Given the description of an element on the screen output the (x, y) to click on. 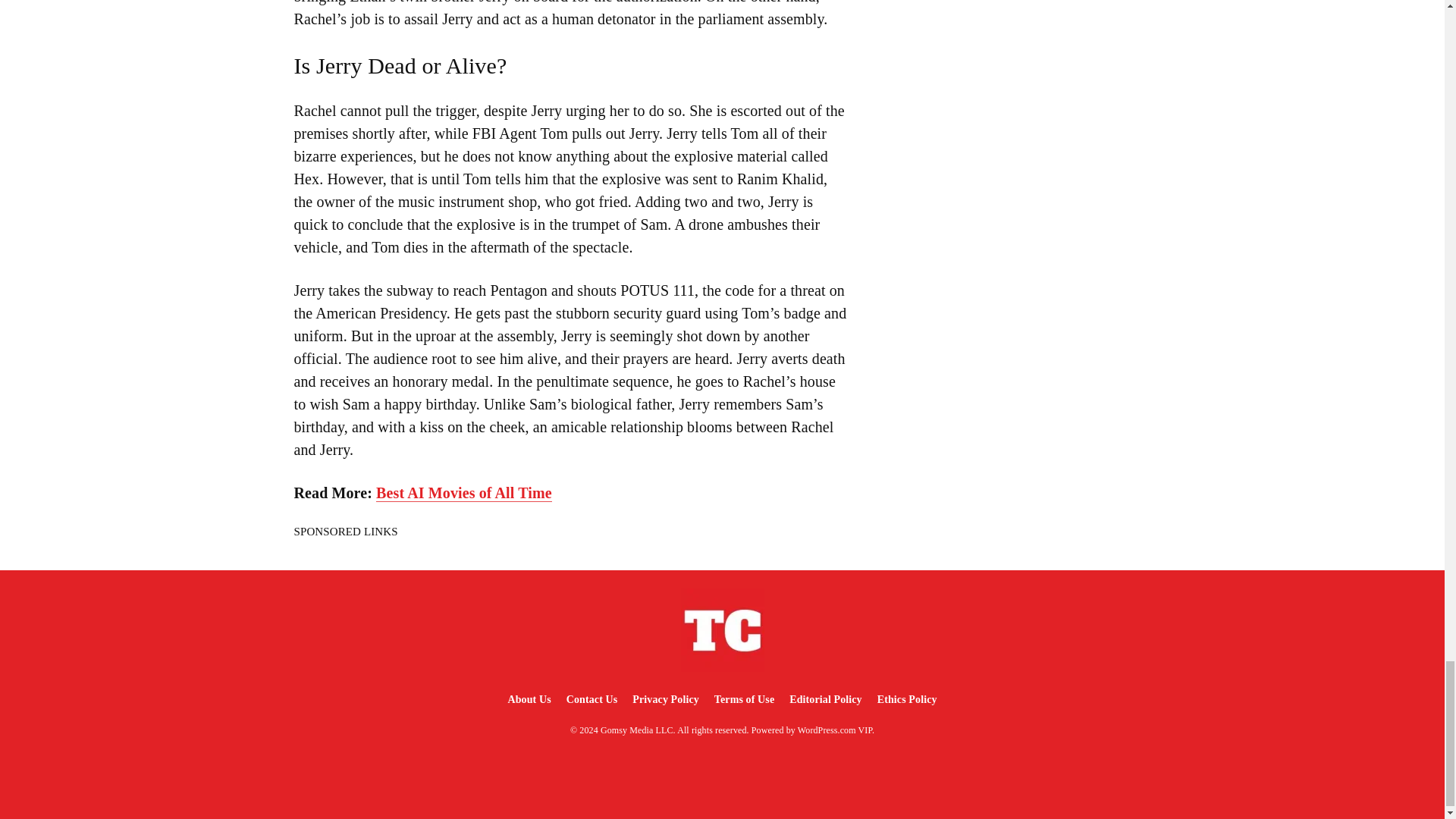
Best AI Movies of All Time (463, 493)
Privacy Policy (665, 699)
About Us (528, 699)
Contact Us (592, 699)
Terms of Use (743, 699)
Ethics Policy (906, 699)
Editorial Policy (825, 699)
WordPress.com VIP (834, 729)
